Given the description of an element on the screen output the (x, y) to click on. 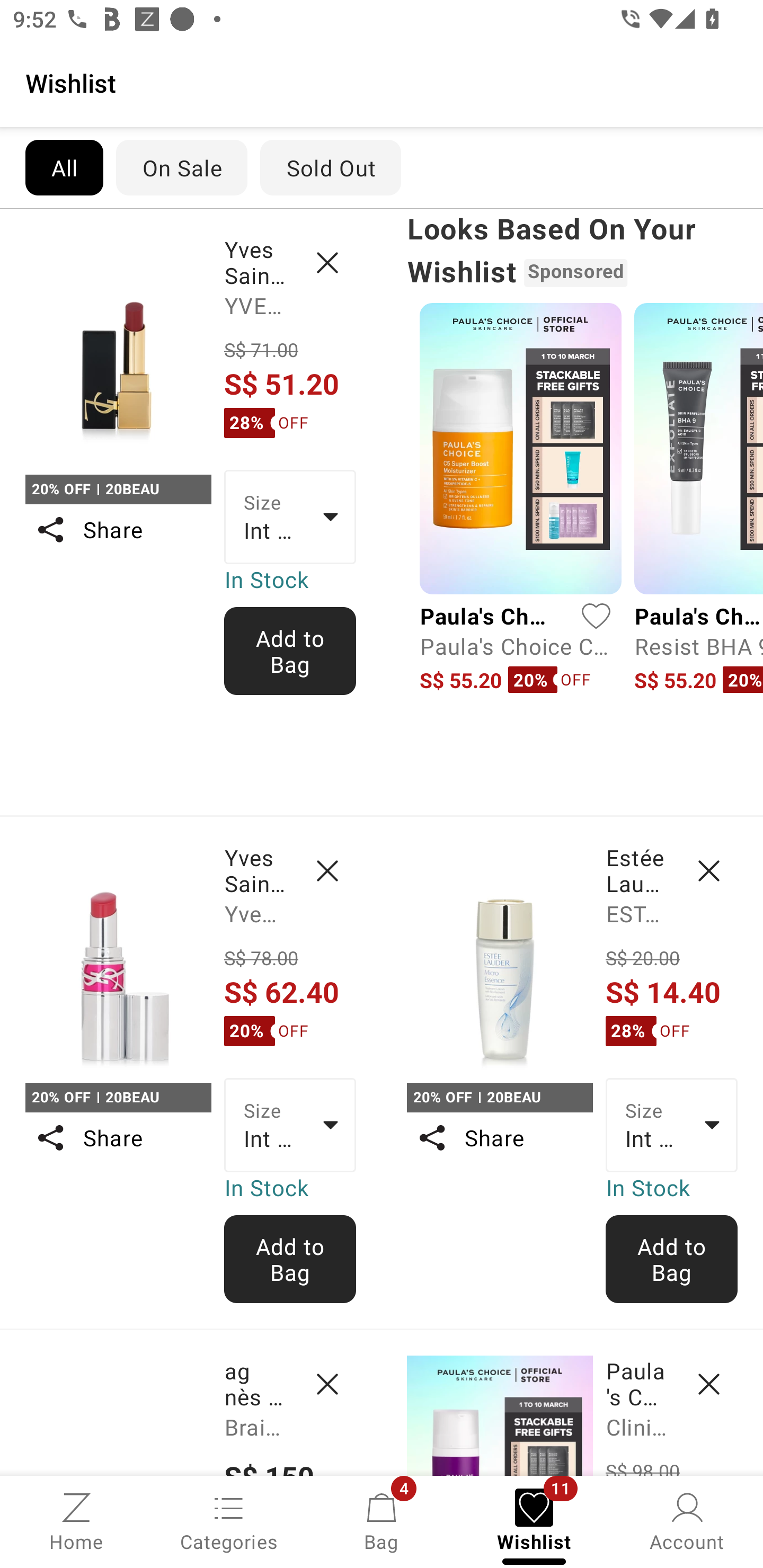
Wishlist (381, 82)
All (64, 167)
On Sale (181, 167)
Sold Out (330, 167)
Size Int One Size (290, 517)
Share (118, 529)
Add to Bag (290, 650)
Size Int One Size (290, 1125)
Size Int One Size (671, 1125)
Share (118, 1137)
Share (499, 1137)
Add to Bag (290, 1259)
Add to Bag (671, 1259)
Home (76, 1519)
Categories (228, 1519)
Bag, 4 new notifications Bag (381, 1519)
Account (686, 1519)
